Given the description of an element on the screen output the (x, y) to click on. 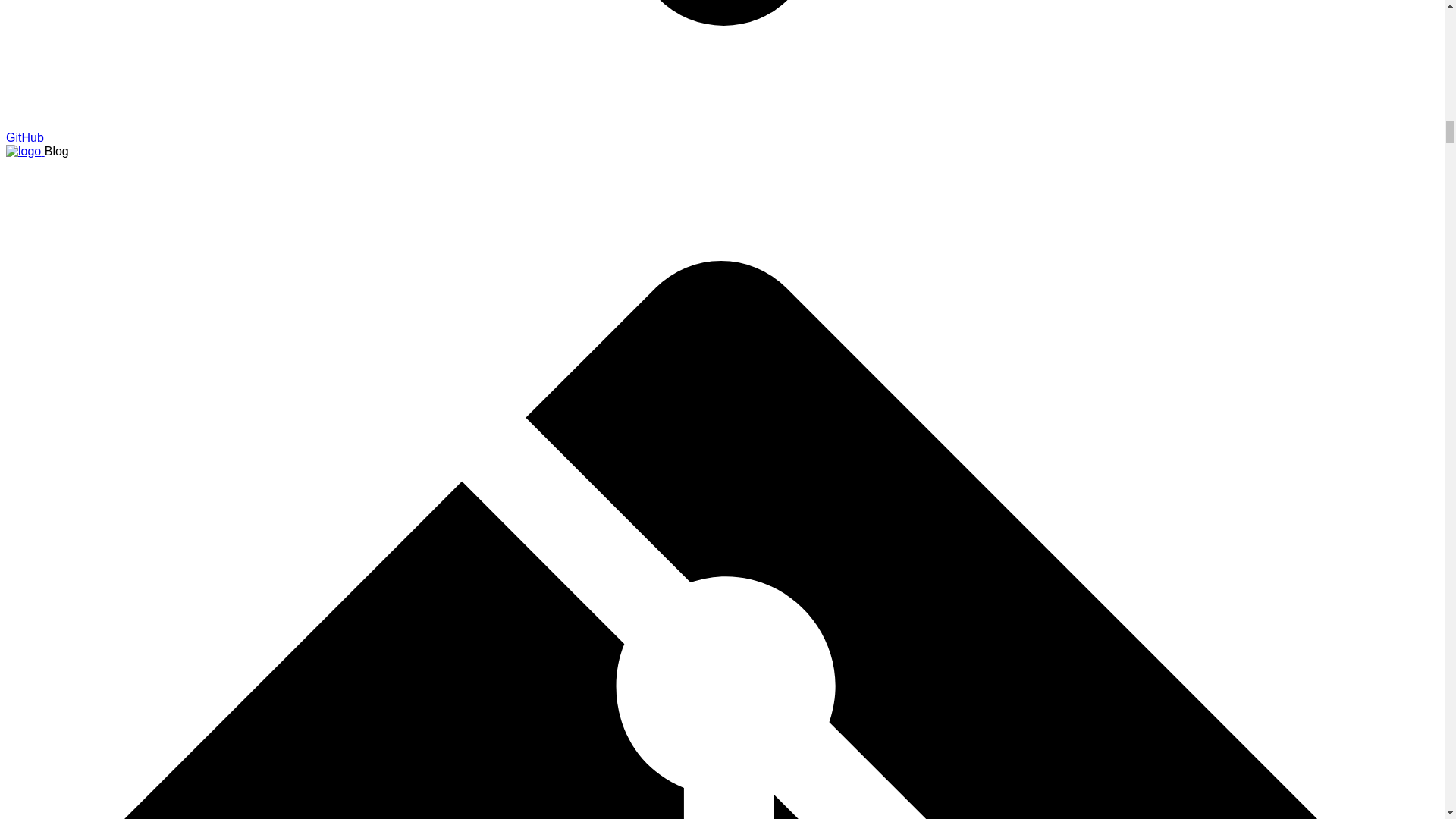
Blog (25, 151)
